Given the description of an element on the screen output the (x, y) to click on. 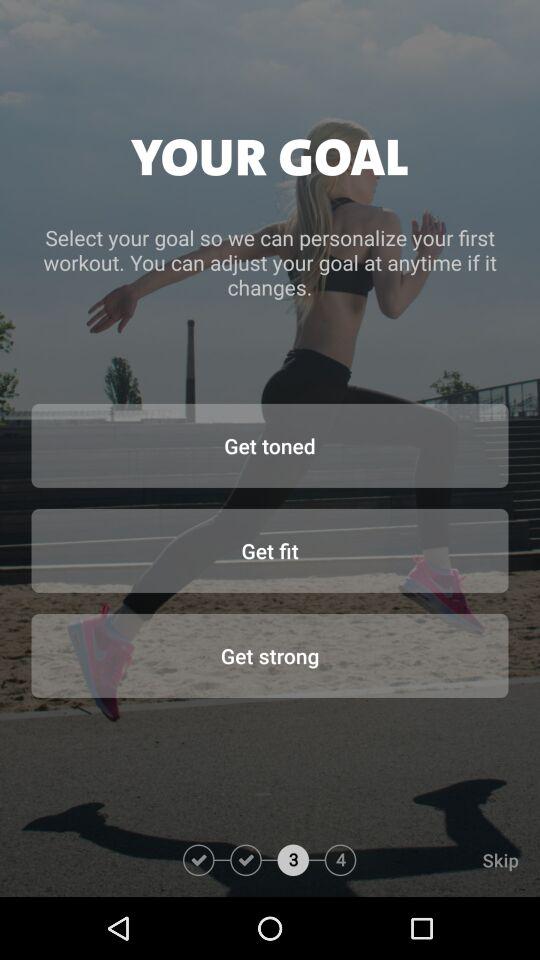
flip to get toned item (269, 445)
